Given the description of an element on the screen output the (x, y) to click on. 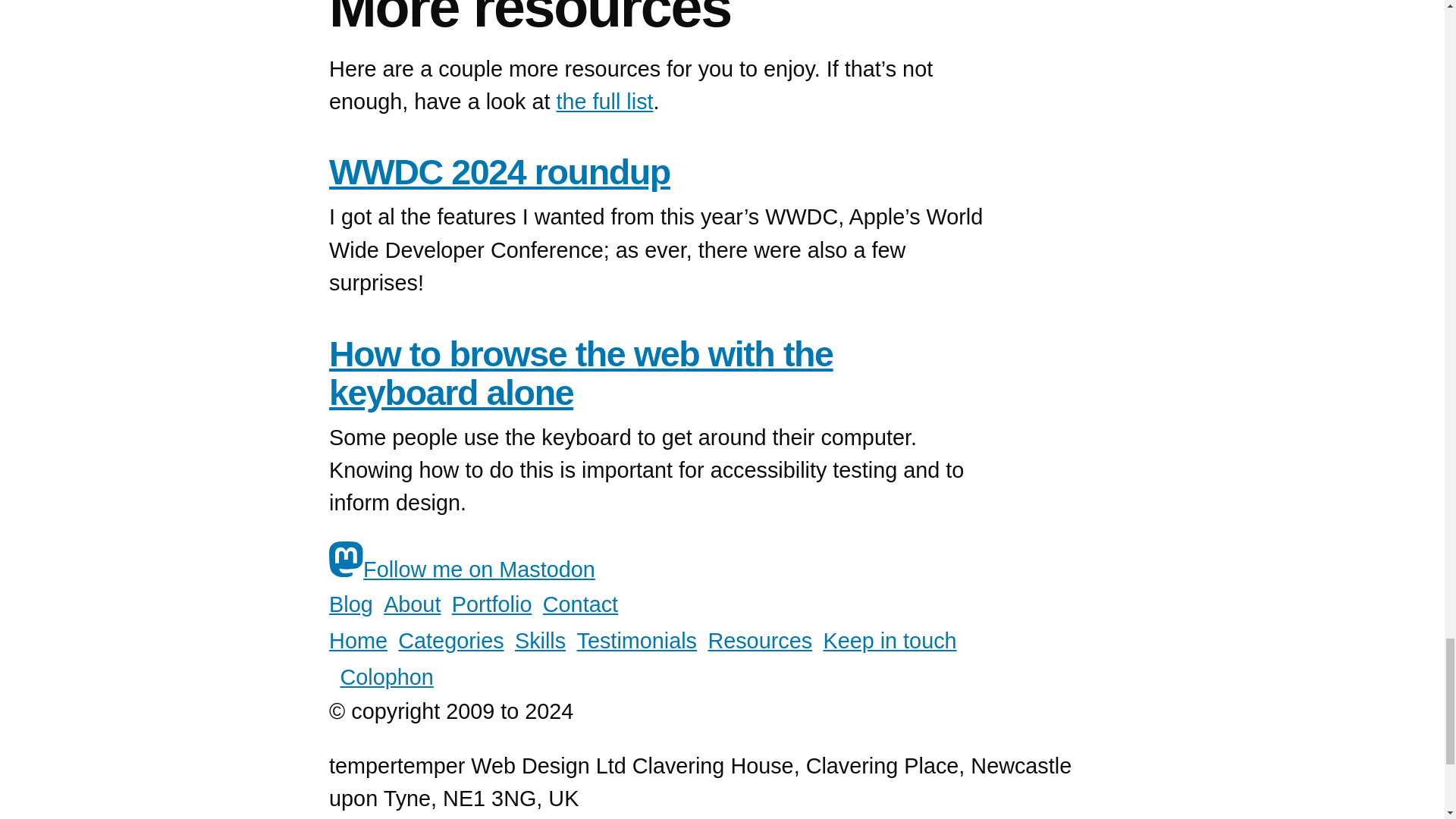
WWDC 2024 roundup (499, 171)
Resources (759, 640)
Portfolio (491, 604)
Follow me on Mastodon (462, 569)
Colophon (385, 677)
Blog (350, 604)
Keep in touch (889, 640)
About (412, 604)
Home (358, 640)
the full list (604, 98)
Categories (450, 640)
Testimonials (636, 640)
Contact (580, 604)
Skills (540, 640)
How to browse the web with the keyboard alone (580, 373)
